Given the description of an element on the screen output the (x, y) to click on. 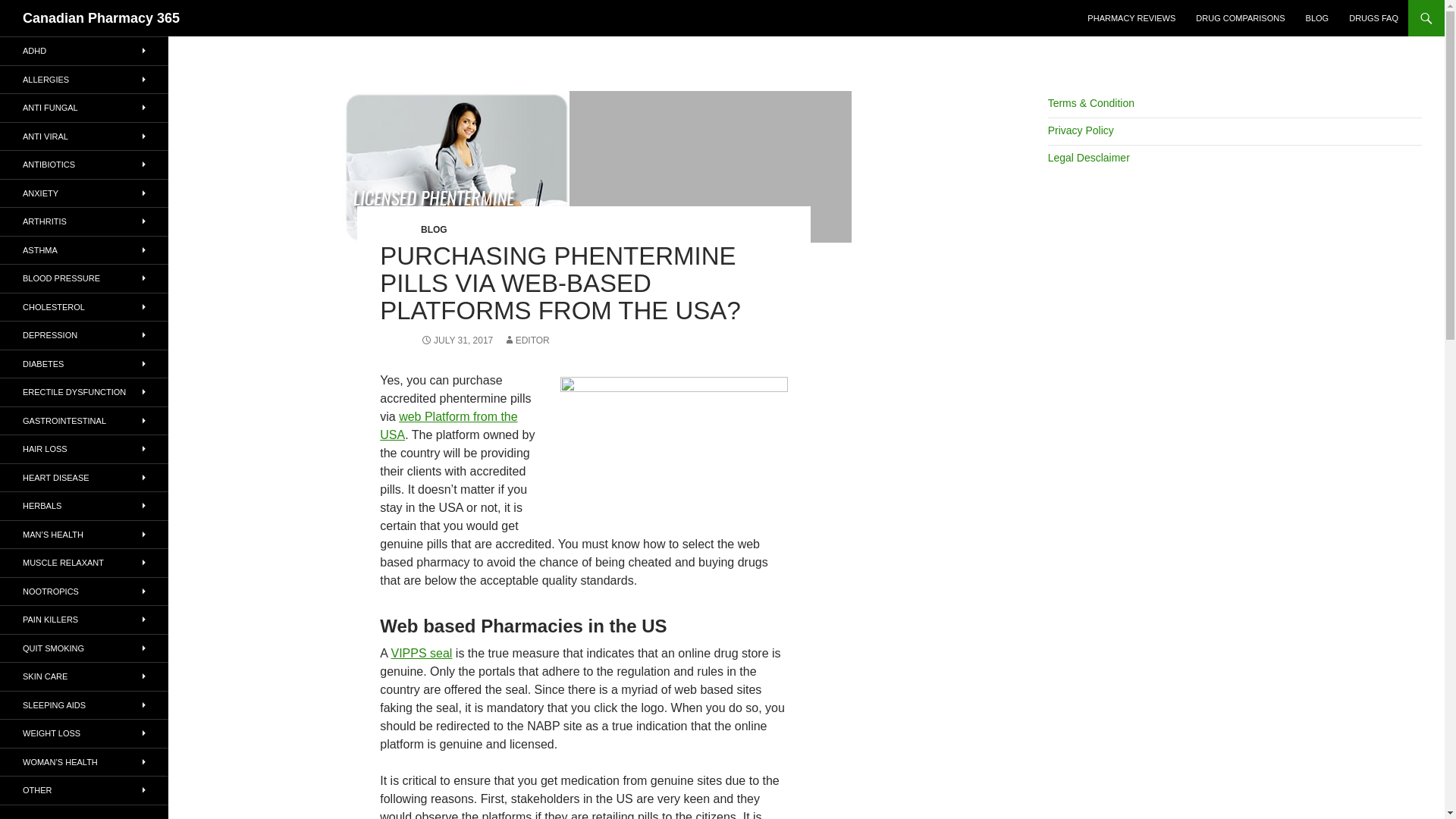
ANTI VIRAL (84, 136)
Privacy Policy (1080, 130)
DRUGS FAQ (1373, 18)
VIPPS seal (420, 653)
Canadian Pharmacy 365 (101, 18)
DRUG COMPARISONS (1240, 18)
PHARMACY REVIEWS (1131, 18)
Legal Desclaimer (1088, 157)
BLOG (1317, 18)
BLOG (433, 229)
